Given the description of an element on the screen output the (x, y) to click on. 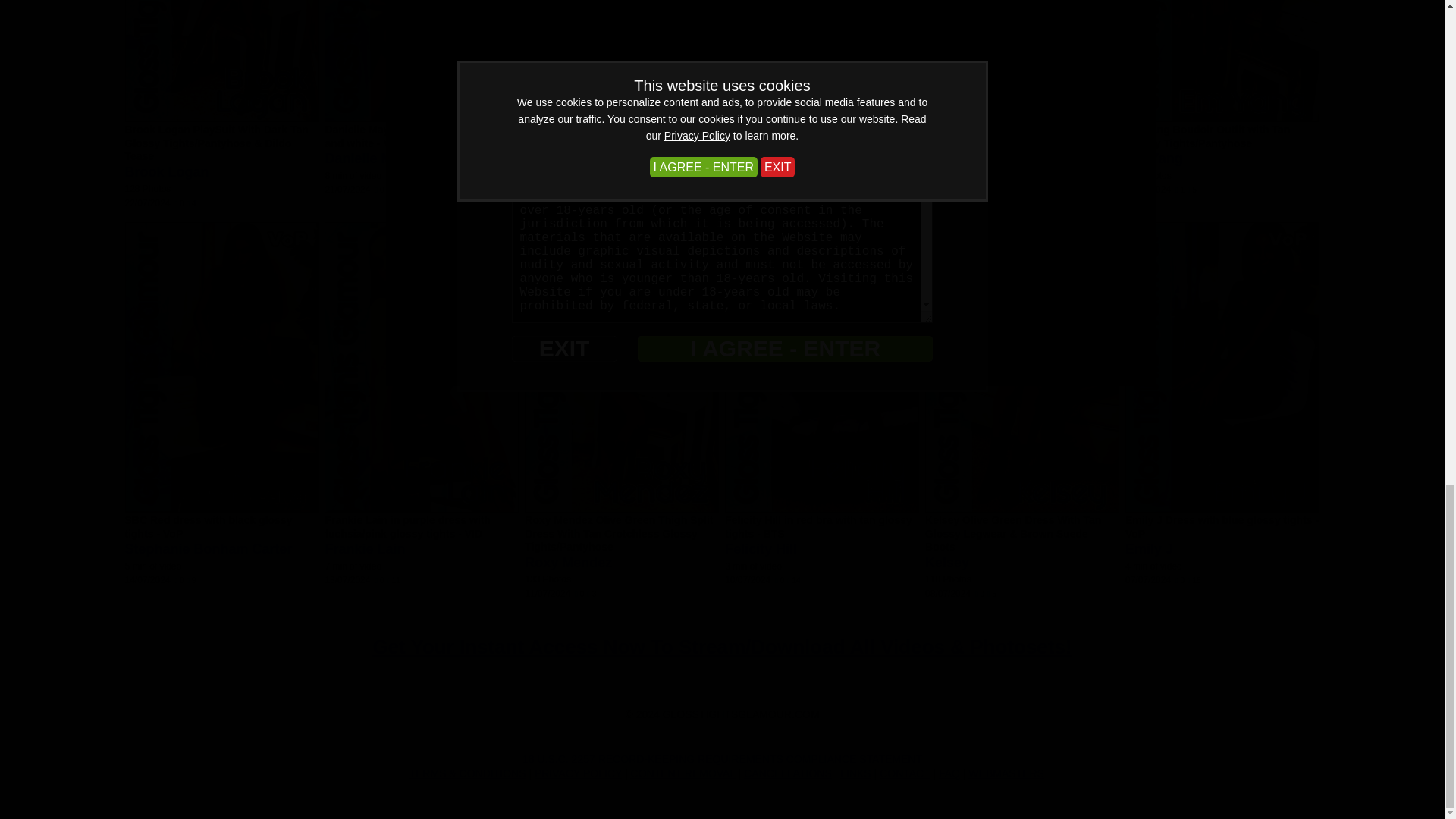
Kay in beige dress with dark tan glossy tights - VID (605, 136)
Kay (537, 158)
Danielle Maye - Sheer delight in black and white - VoP (418, 136)
Brook Logan (165, 171)
Danielle Maye (369, 158)
